Given the description of an element on the screen output the (x, y) to click on. 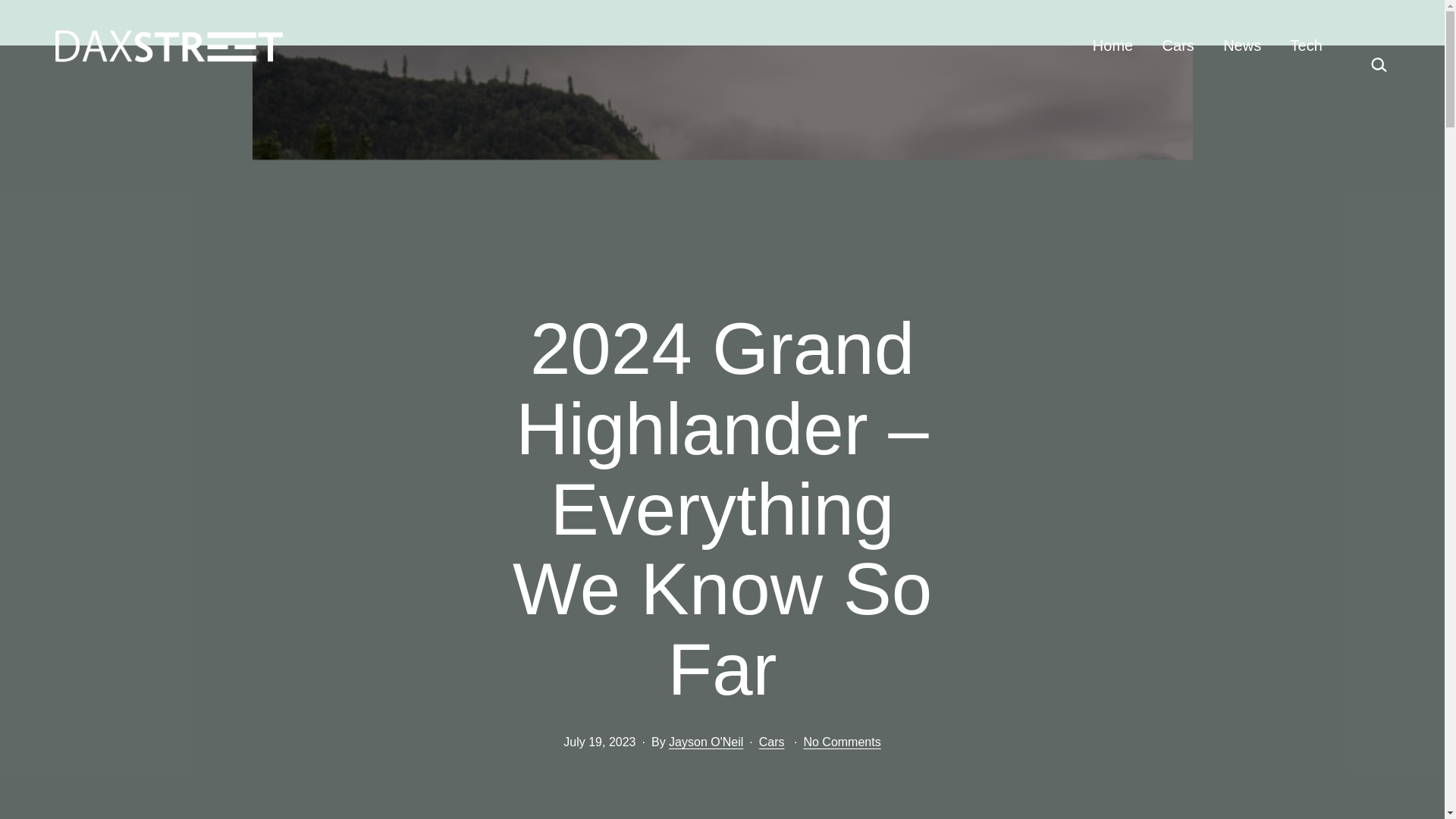
Tech (1305, 45)
Home (1112, 45)
News (1241, 45)
Cars (771, 741)
Cars (1177, 45)
Jayson O'Neil (705, 741)
